Given the description of an element on the screen output the (x, y) to click on. 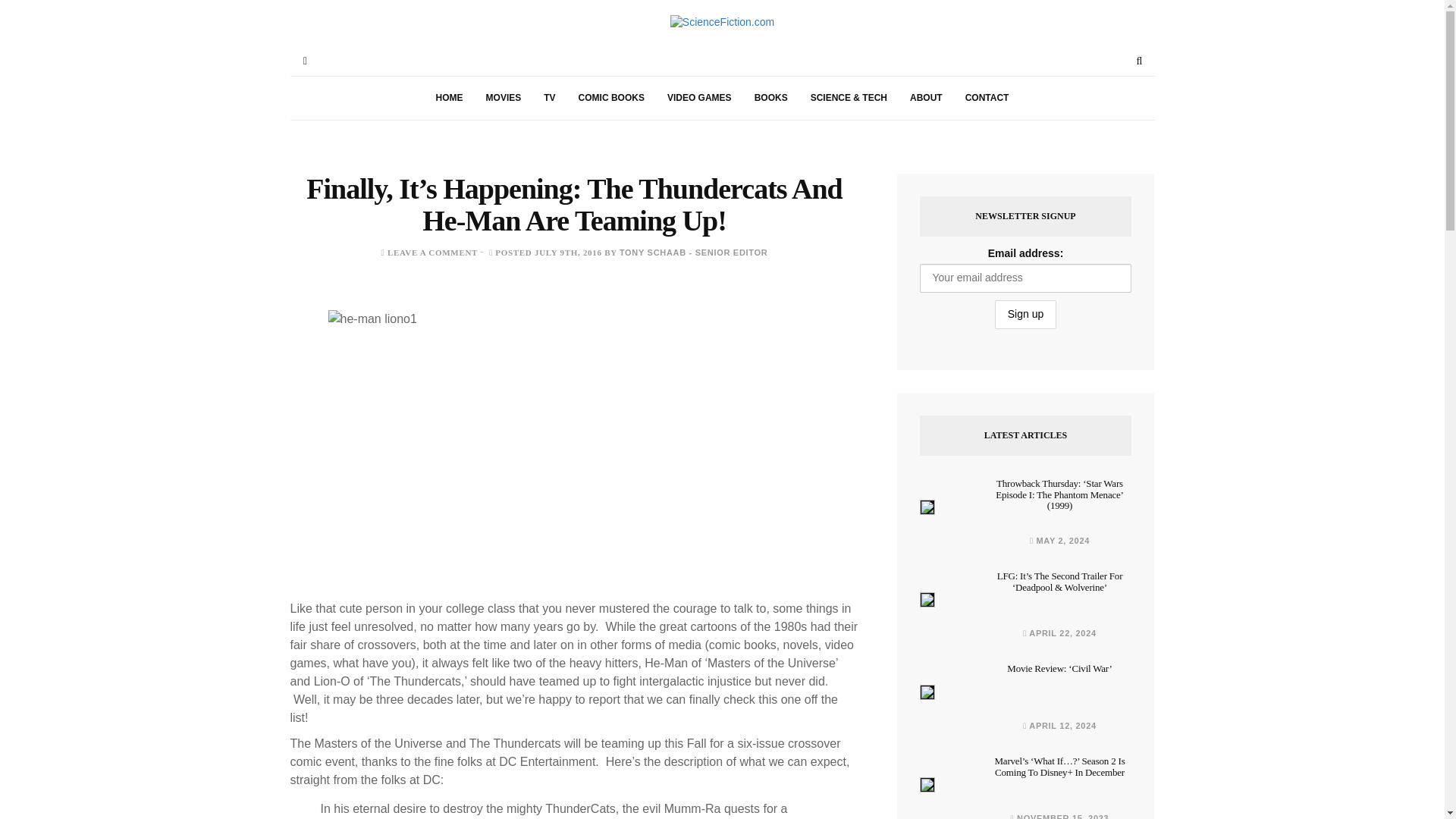
VIDEO GAMES (699, 97)
MOVIES (503, 97)
CONTACT (986, 97)
Posts by Tony Schaab - Senior Editor (694, 252)
BOOKS (770, 97)
HOME (449, 97)
ABOUT (925, 97)
Sign up (1025, 314)
COMIC BOOKS (611, 97)
LEAVE A COMMENT (432, 252)
Search (1139, 60)
TONY SCHAAB - SENIOR EDITOR (694, 252)
